Given the description of an element on the screen output the (x, y) to click on. 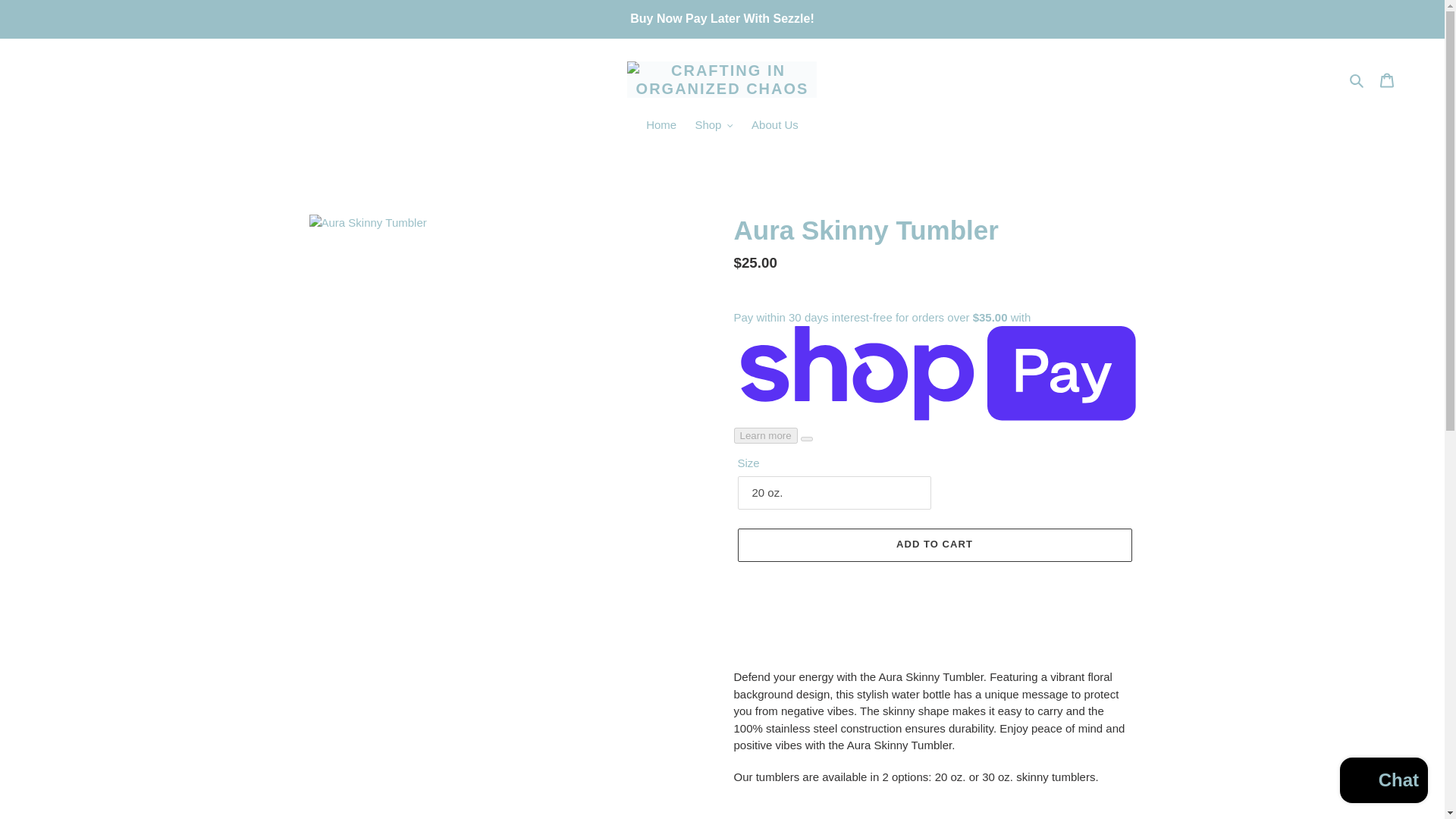
Shopify online store chat (1383, 781)
Search (1357, 79)
Buy Now Pay Later With Sezzle! (721, 18)
Cart (1387, 79)
